Given the description of an element on the screen output the (x, y) to click on. 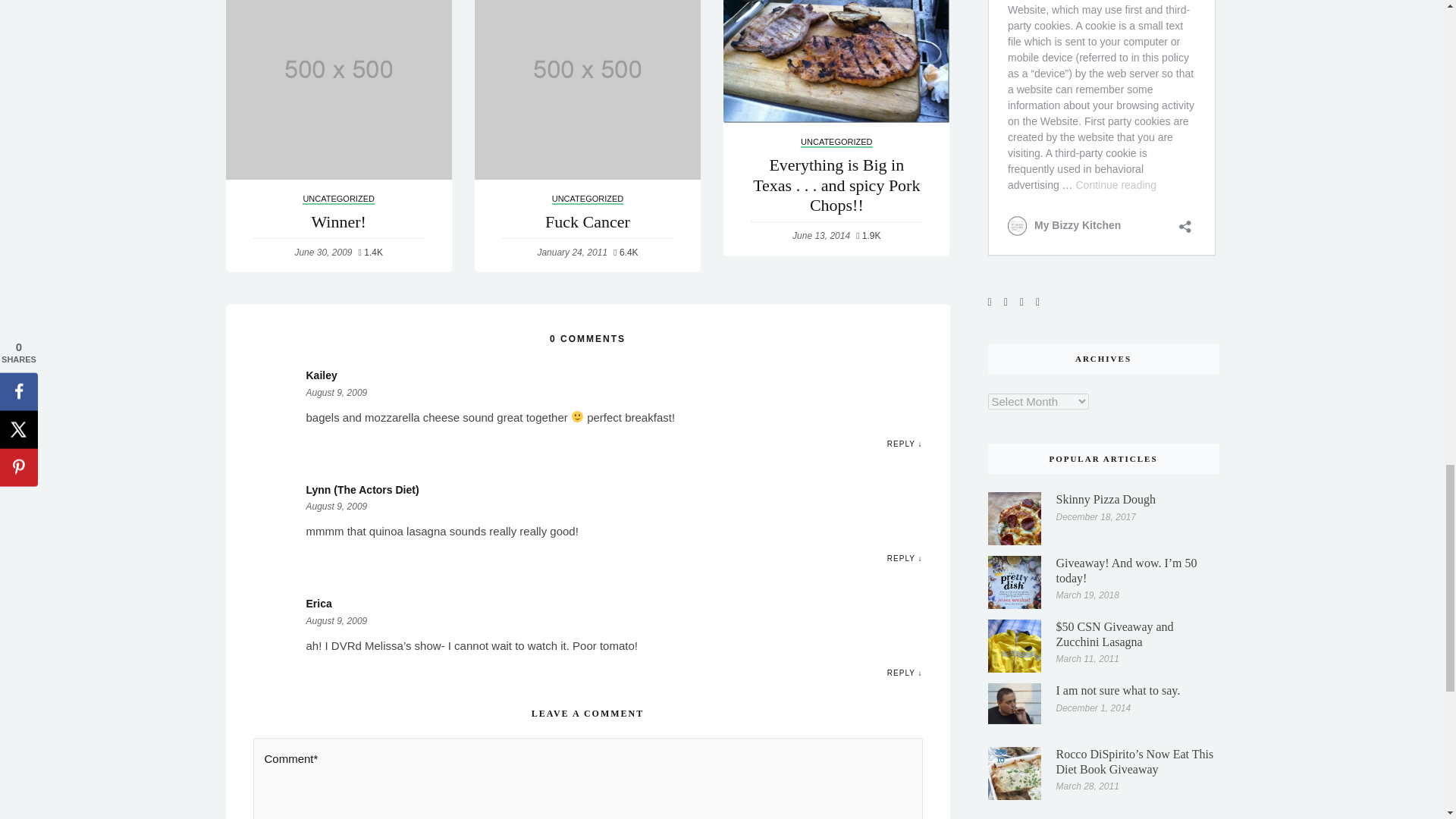
Everything is Big in Texas . . . and spicy Pork Chops!! (836, 61)
I am not sure what to say. (1014, 703)
